Given the description of an element on the screen output the (x, y) to click on. 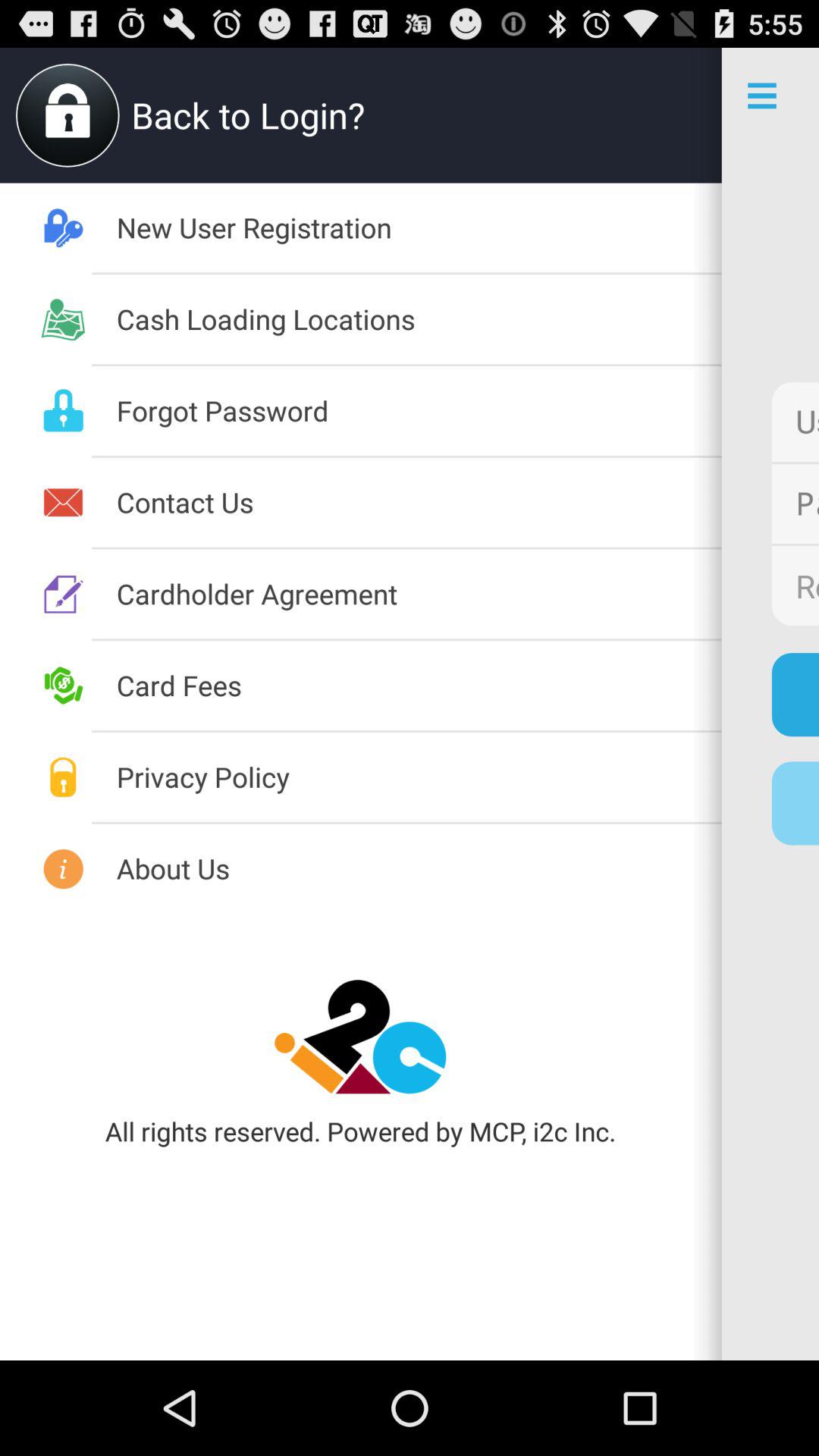
press the icon to the left of the remember me (418, 593)
